Given the description of an element on the screen output the (x, y) to click on. 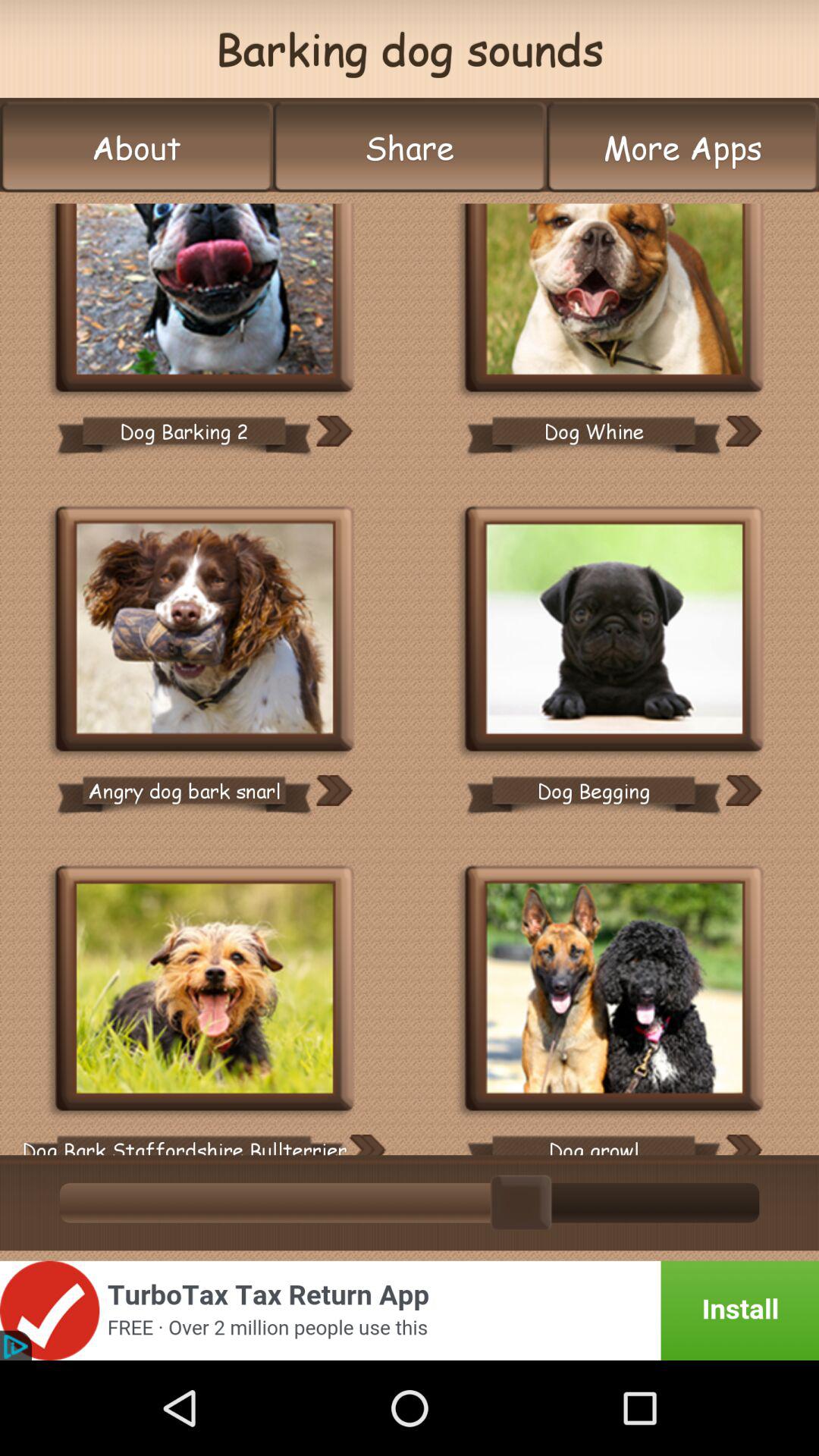
pick an option (613, 630)
